Given the description of an element on the screen output the (x, y) to click on. 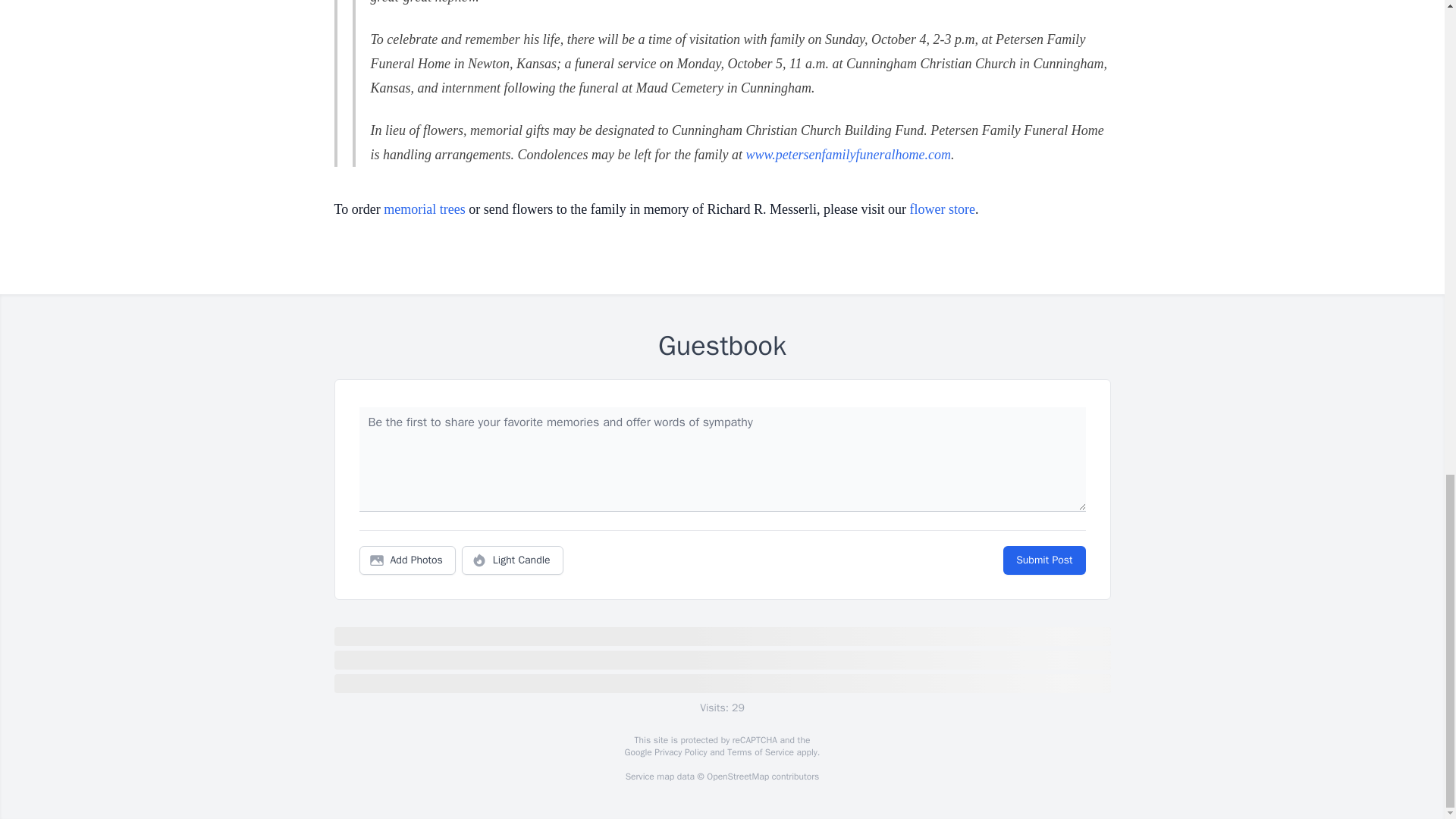
Add Photos (407, 560)
www.petersenfamilyfuneralhome.com (847, 154)
OpenStreetMap (737, 776)
flower store (942, 209)
Light Candle (512, 560)
Terms of Service (759, 752)
Submit Post (1043, 560)
Privacy Policy (679, 752)
memorial trees (424, 209)
